Given the description of an element on the screen output the (x, y) to click on. 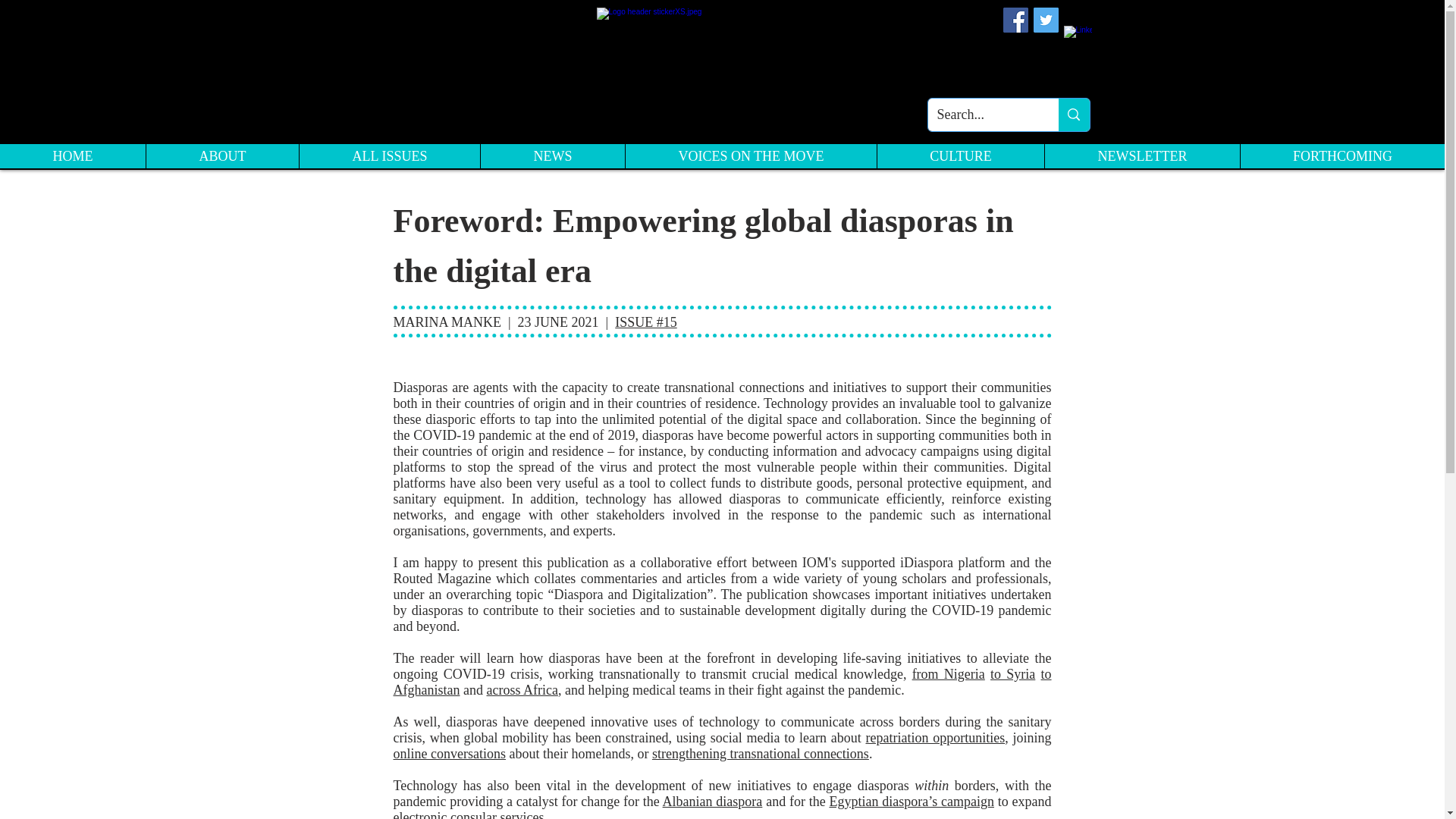
across Africa (521, 689)
ALL ISSUES (389, 156)
ABOUT (221, 156)
strengthening transnational connections (760, 753)
VOICES ON THE MOVE (750, 156)
to Syria (1012, 673)
NEWS (552, 156)
online conversations (449, 753)
Albanian diaspora (712, 801)
HOME (72, 156)
